Given the description of an element on the screen output the (x, y) to click on. 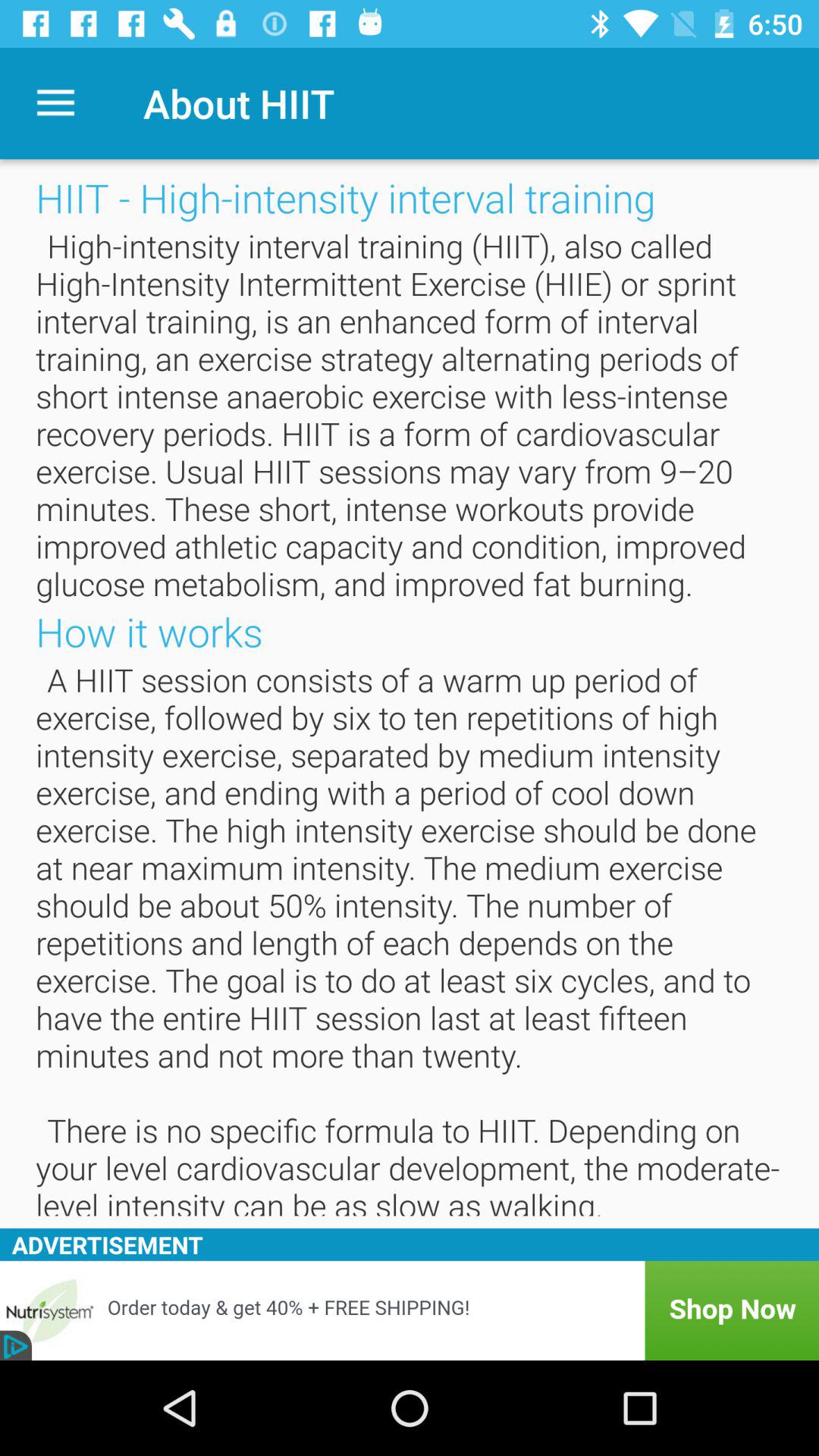
click item to the left of about hiit item (55, 103)
